Given the description of an element on the screen output the (x, y) to click on. 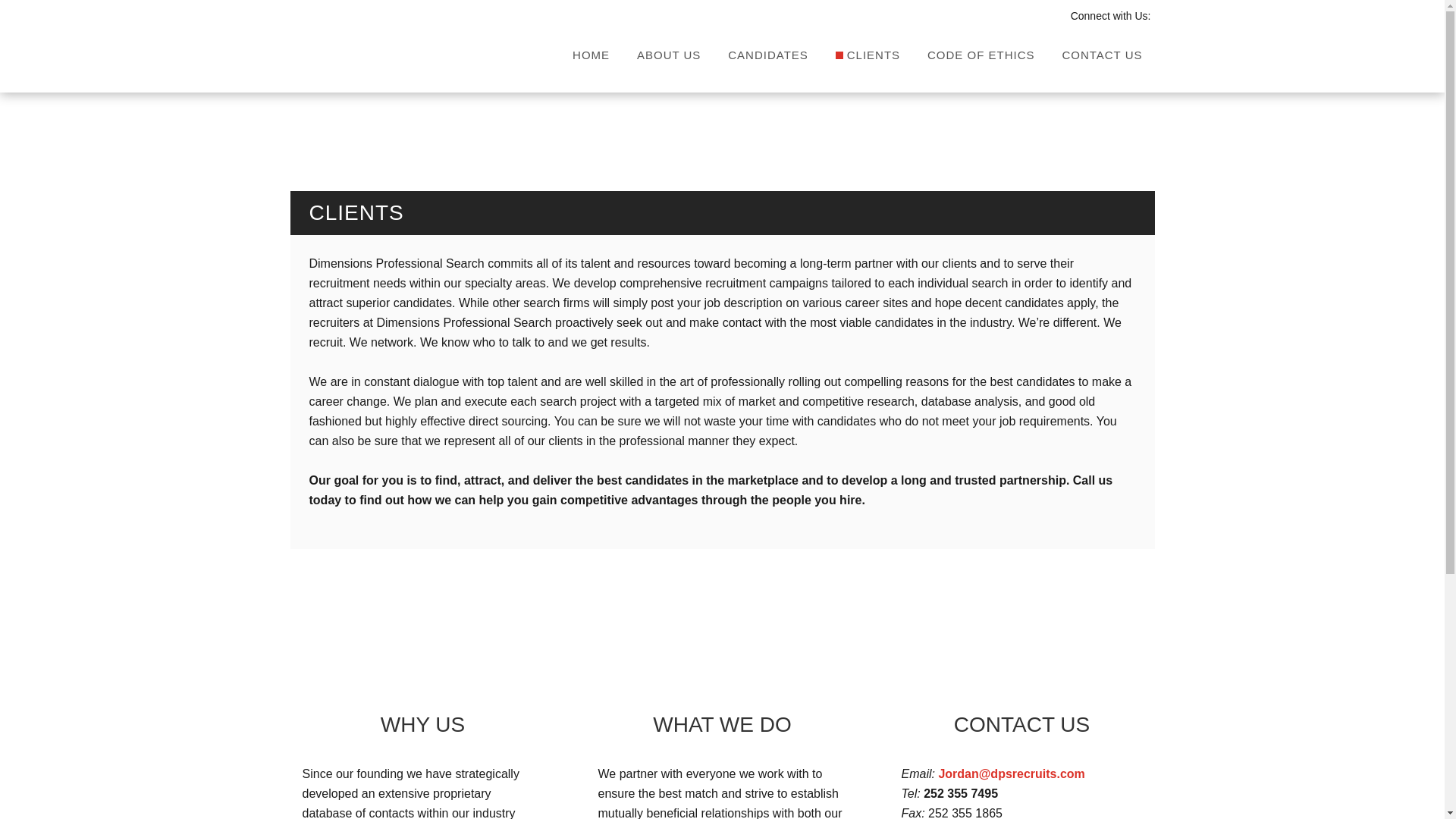
HOME (590, 56)
CONTACT US (1101, 56)
CODE OF ETHICS (980, 56)
CANDIDATES (768, 56)
CLIENTS (868, 56)
DIMENSIONS PROFESSIONAL SEARCH (362, 44)
ABOUT US (668, 56)
